Given the description of an element on the screen output the (x, y) to click on. 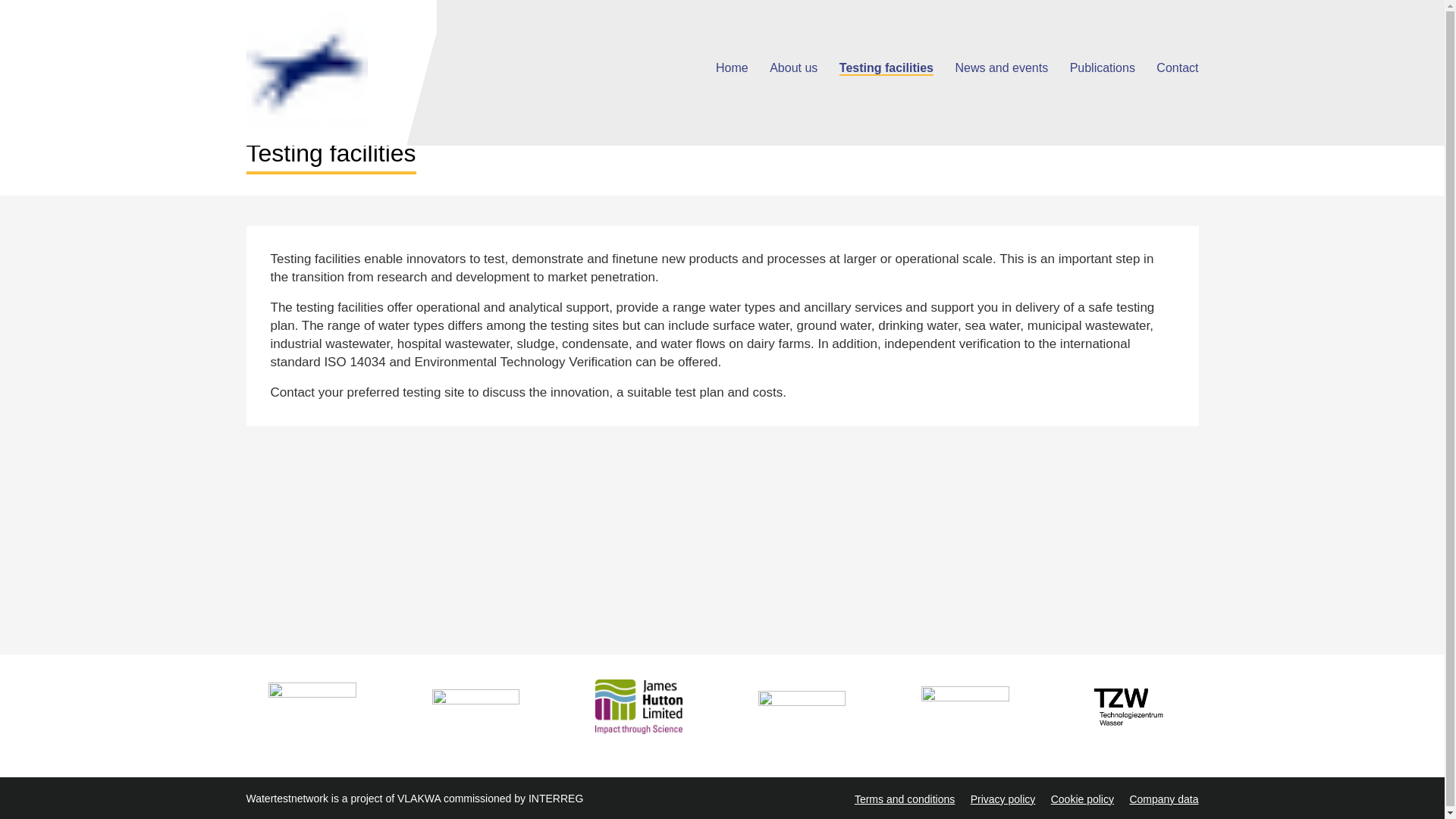
HOME (263, 93)
Company data (1163, 799)
Home (340, 66)
Cookie policy (1082, 799)
News and events (1001, 67)
Terms and conditions (904, 799)
Publications (1102, 67)
Privacy policy (1003, 799)
TESTING FACILITIES (330, 93)
Testing facilities (886, 68)
